Given the description of an element on the screen output the (x, y) to click on. 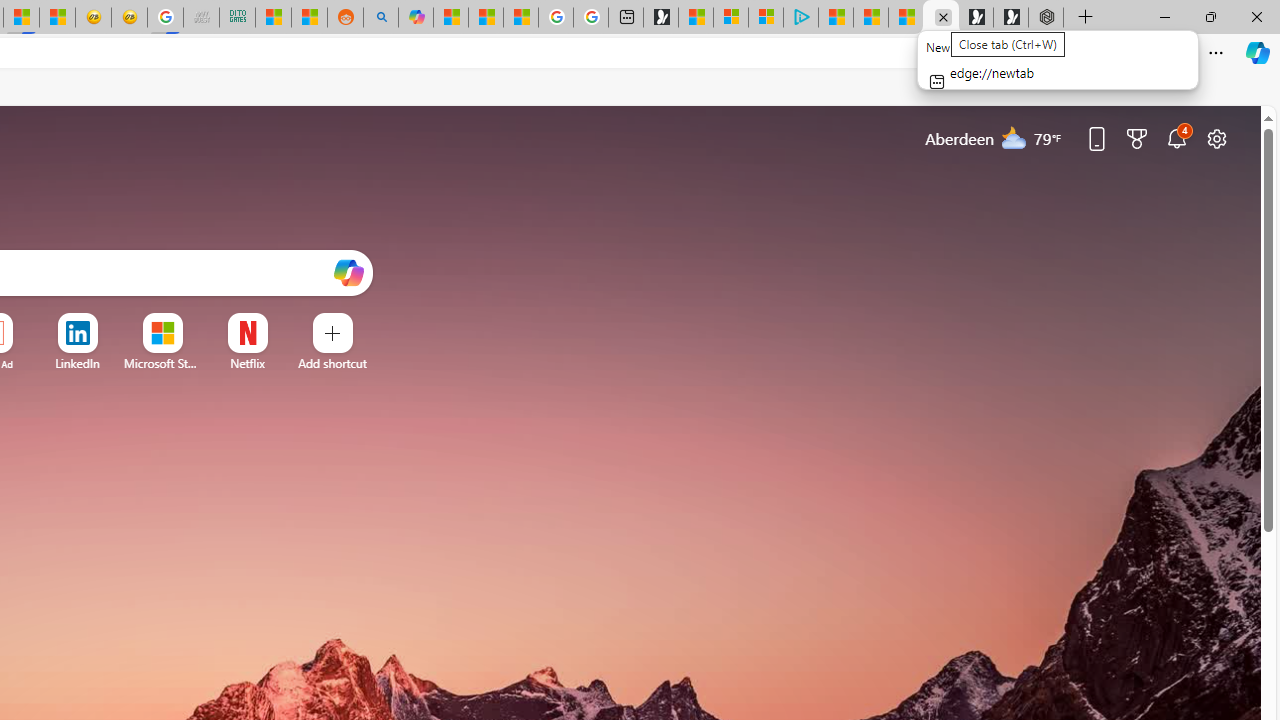
Mostly cloudy (1014, 137)
LinkedIn (77, 363)
